Given the description of an element on the screen output the (x, y) to click on. 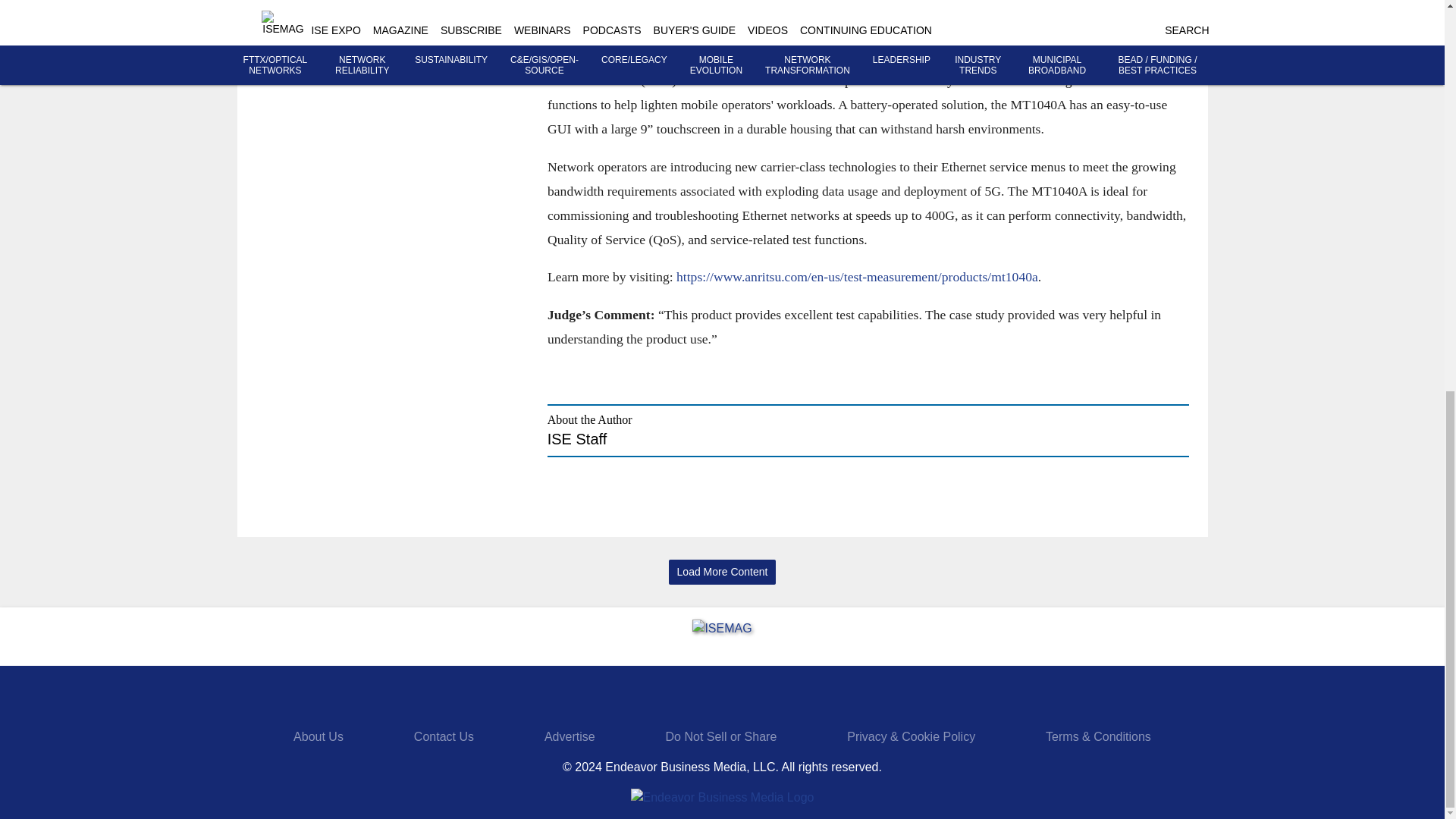
Anritsu Mt1040a Xl E 64c53b8d9fd95 (1059, 31)
